Given the description of an element on the screen output the (x, y) to click on. 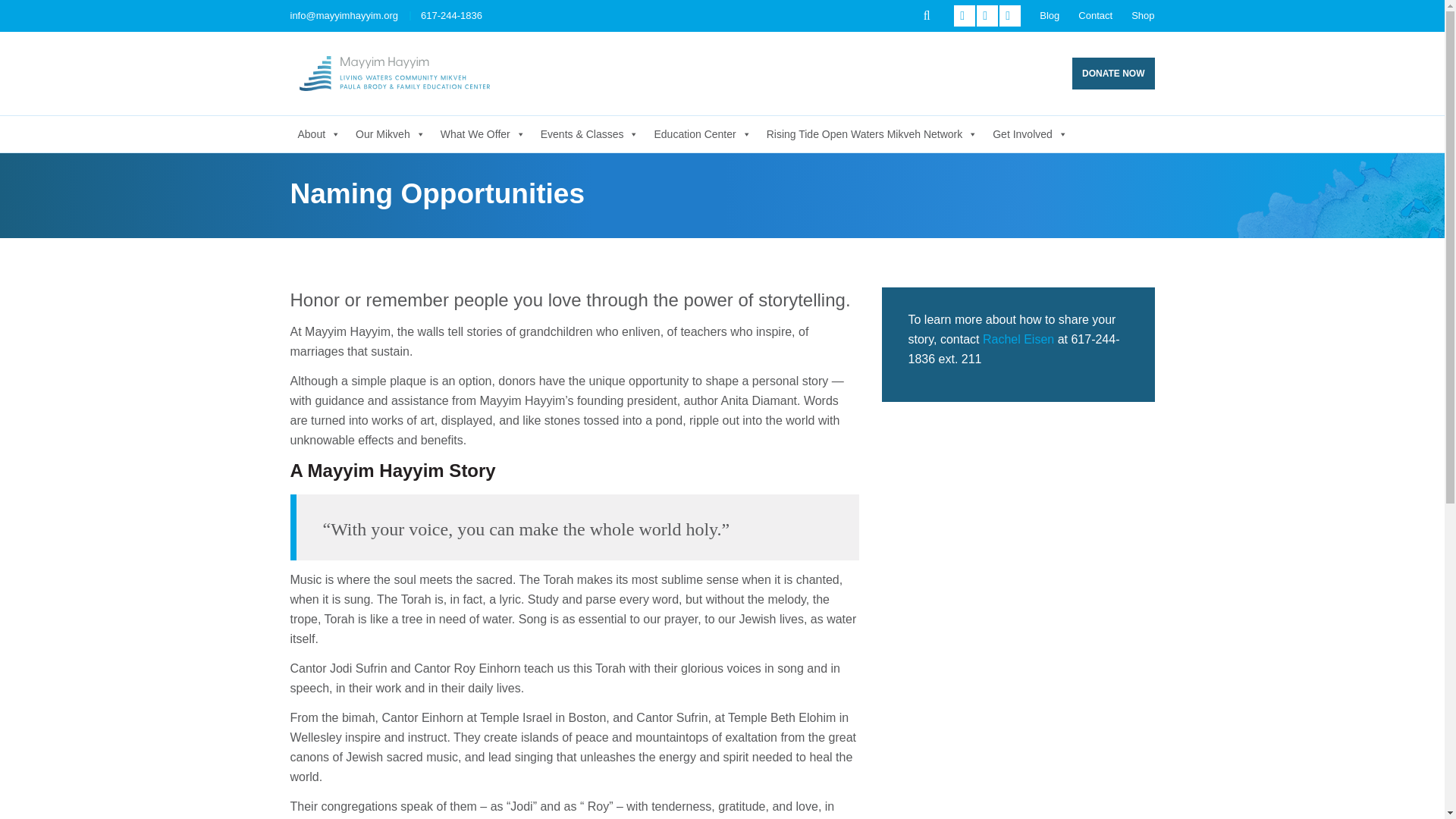
617-244-1836 (450, 15)
Blog (1049, 15)
Search (927, 15)
Instagram (1009, 15)
DONATE NOW (1112, 73)
Twitter (964, 15)
Shop (1142, 15)
Contact (1095, 15)
Facebook (986, 15)
